Given the description of an element on the screen output the (x, y) to click on. 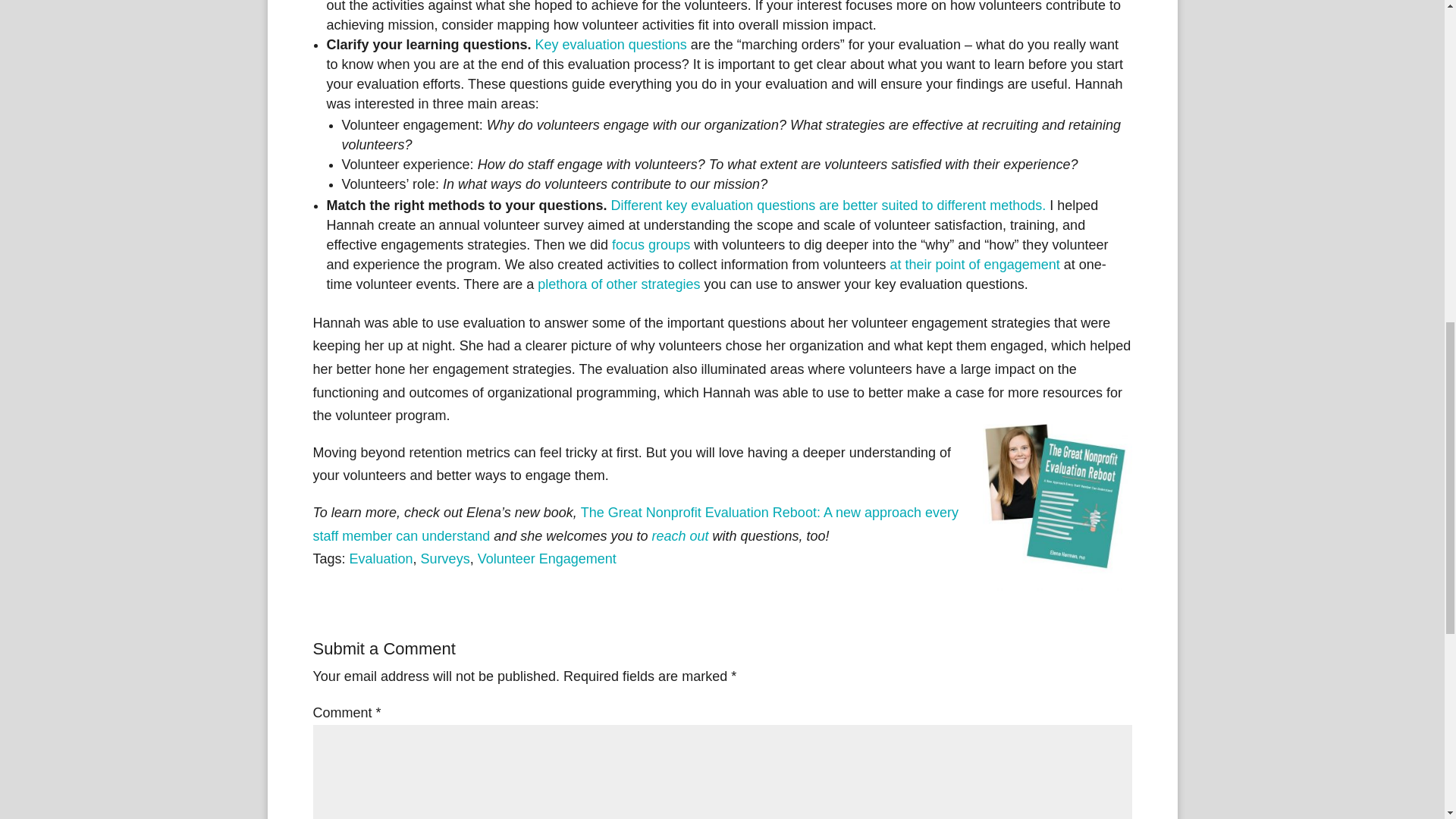
at their point of engagement (974, 264)
plethora of other strategies (618, 283)
Key evaluation questions (611, 44)
focus groups (650, 244)
